Given the description of an element on the screen output the (x, y) to click on. 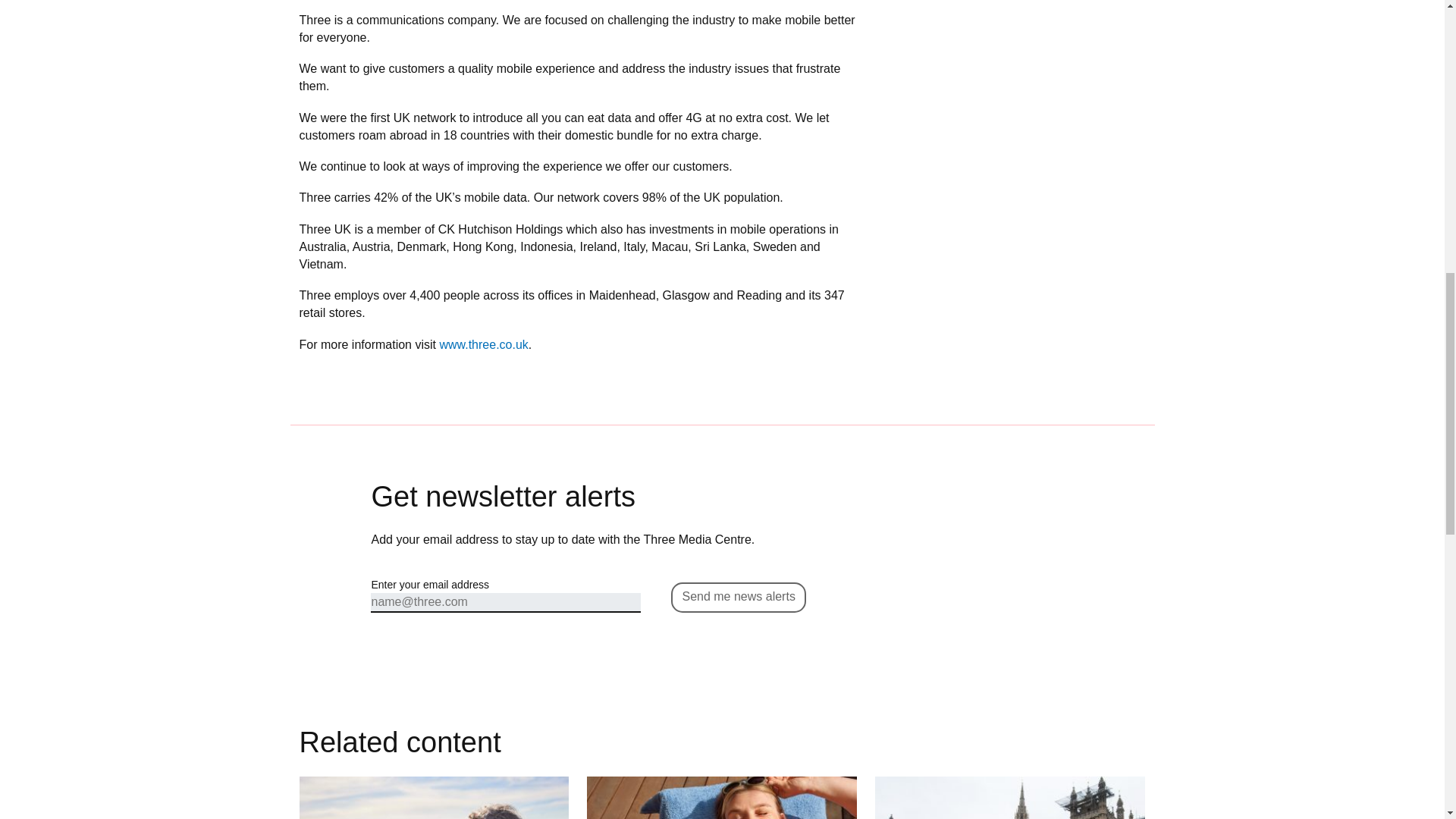
Send me news alerts (738, 597)
www.three.co.uk (483, 344)
